Given the description of an element on the screen output the (x, y) to click on. 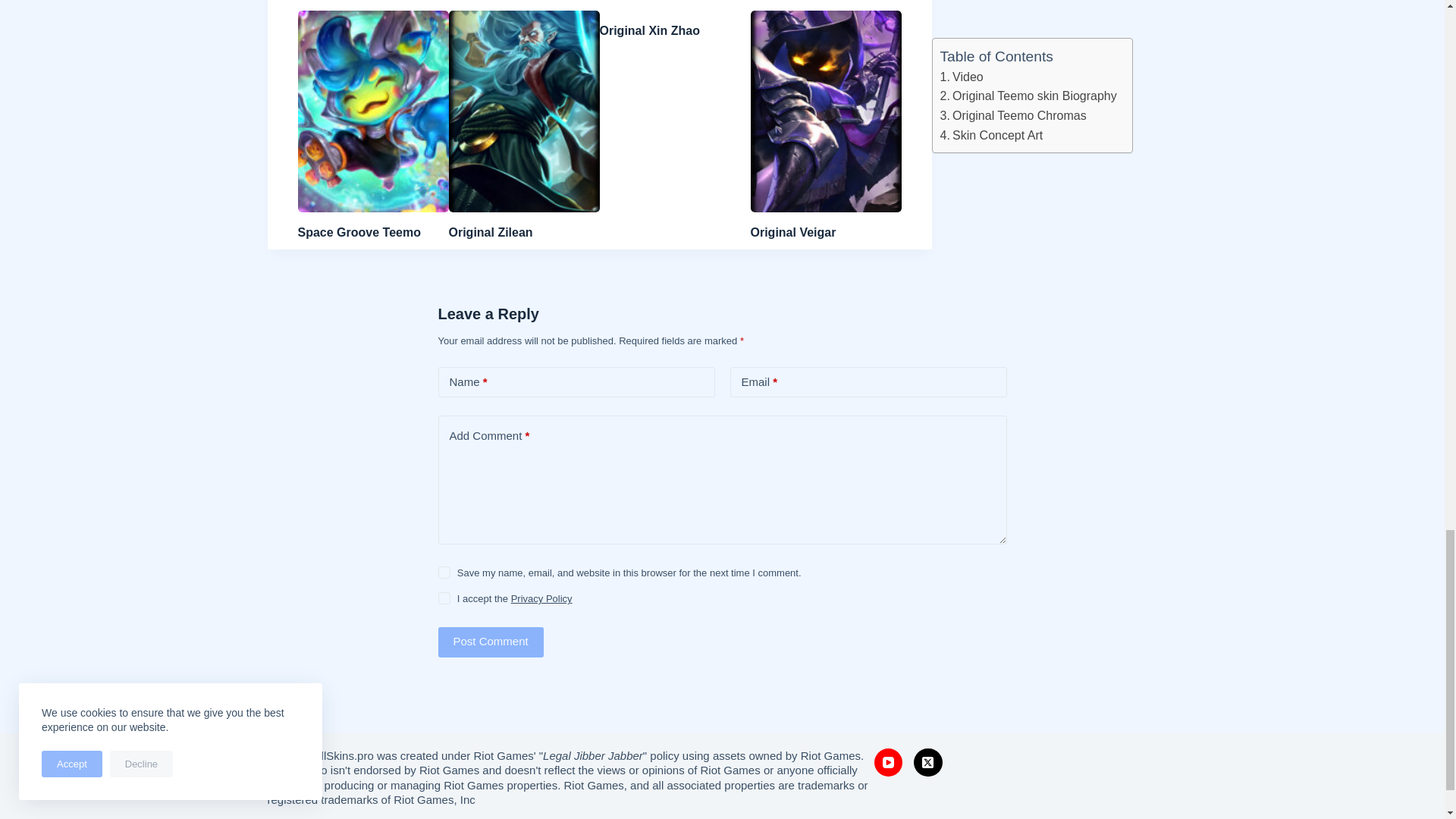
Original Xin Zhao (648, 30)
Original Zilean (490, 232)
Original Veigar (793, 232)
yes (443, 572)
Space Groove Teemo (358, 232)
on (443, 598)
